Given the description of an element on the screen output the (x, y) to click on. 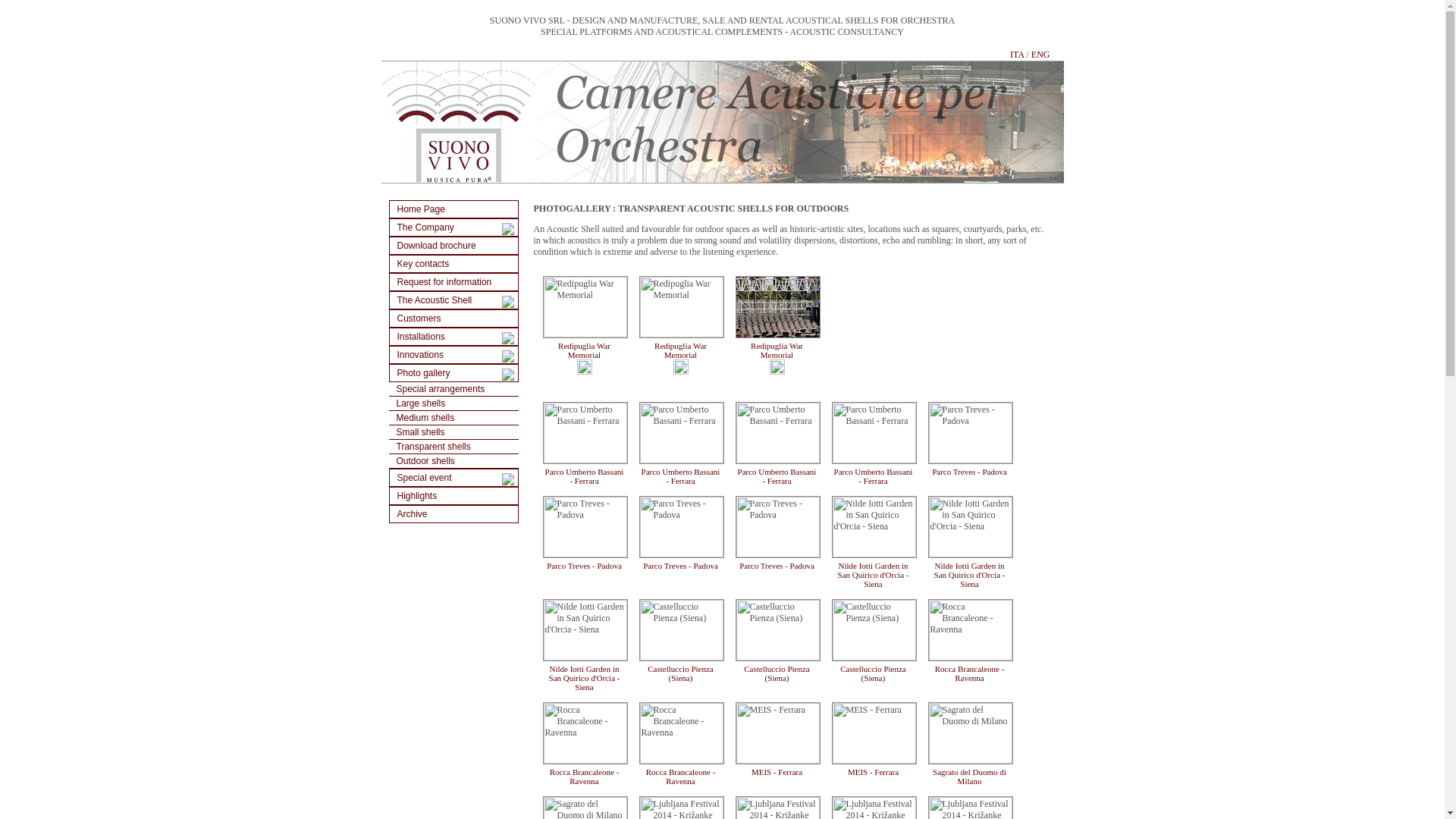
Request for information (453, 281)
Large shells (453, 403)
Photo gallery (453, 372)
Download brochure (453, 245)
Home page (453, 208)
Special arrangements (453, 388)
natural acoustic system by  Suono Vivo (721, 121)
Clienti (453, 318)
Key contacts (453, 263)
ENG (1039, 54)
